Given the description of an element on the screen output the (x, y) to click on. 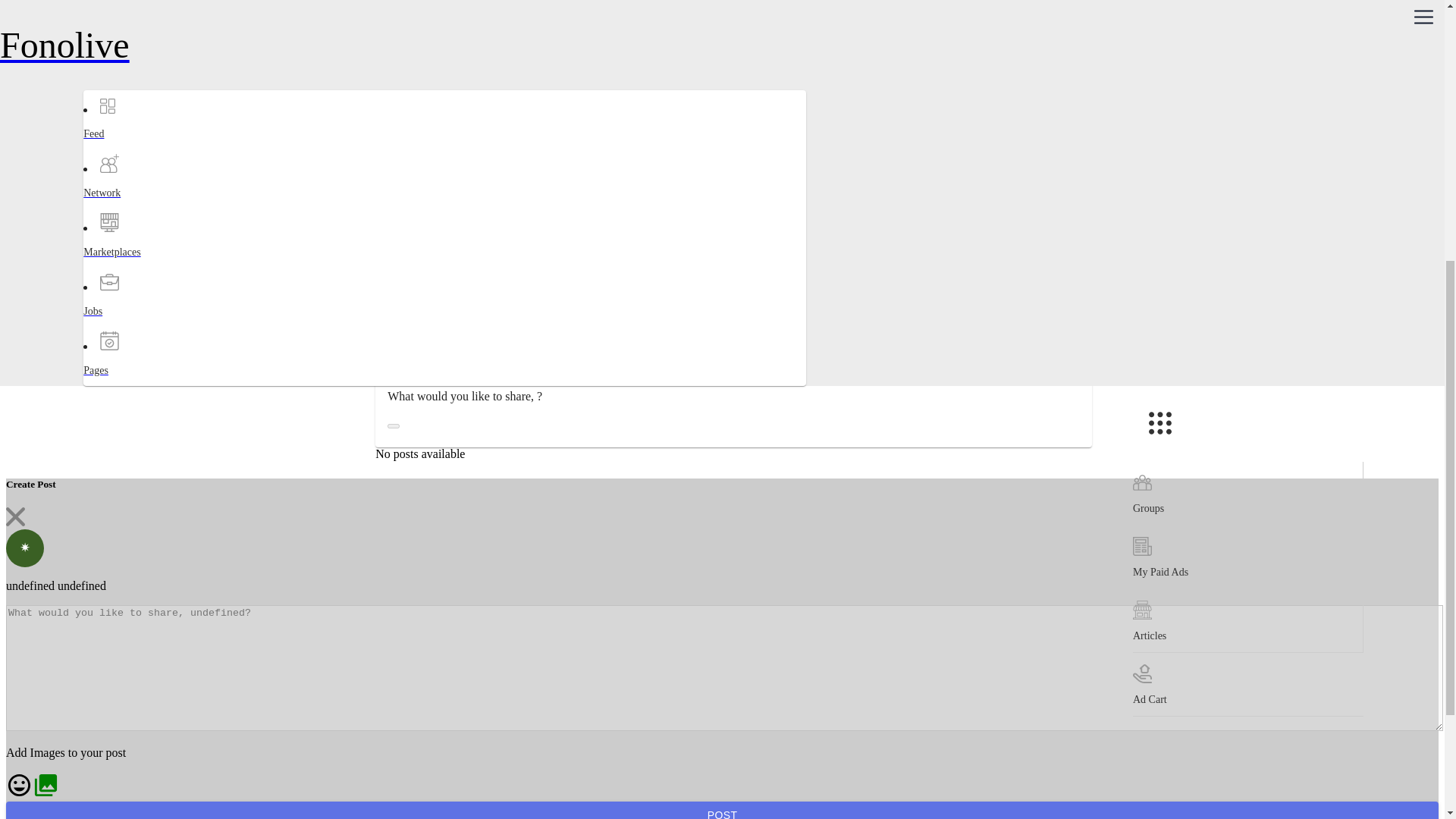
Groups (1247, 43)
SEO Link (390, 90)
Georgia Dumpster Guys (422, 16)
Ad Cart (1247, 234)
My Paid Ads (1247, 106)
Articles (1247, 170)
